Given the description of an element on the screen output the (x, y) to click on. 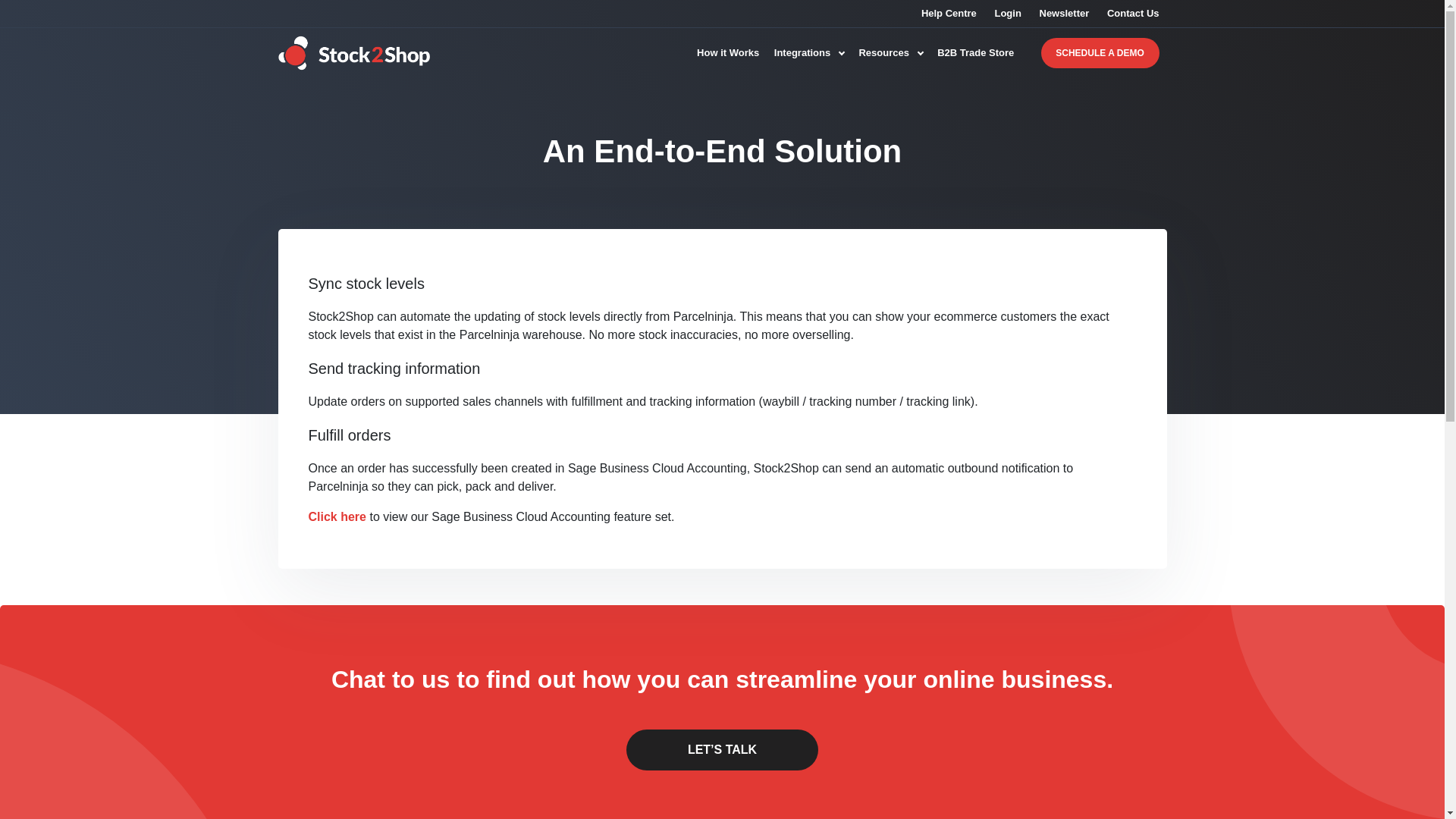
Stock2Shop Support (948, 12)
How it Works (727, 52)
Contact Us (1132, 12)
Stock2Shop Console Login (1007, 12)
Stock2Shop Home (353, 53)
Help Centre (948, 12)
Newsletter (1064, 12)
Newsletter Subscription (1064, 12)
Contact Us (1132, 12)
Login (1007, 12)
Integrations (809, 52)
